Given the description of an element on the screen output the (x, y) to click on. 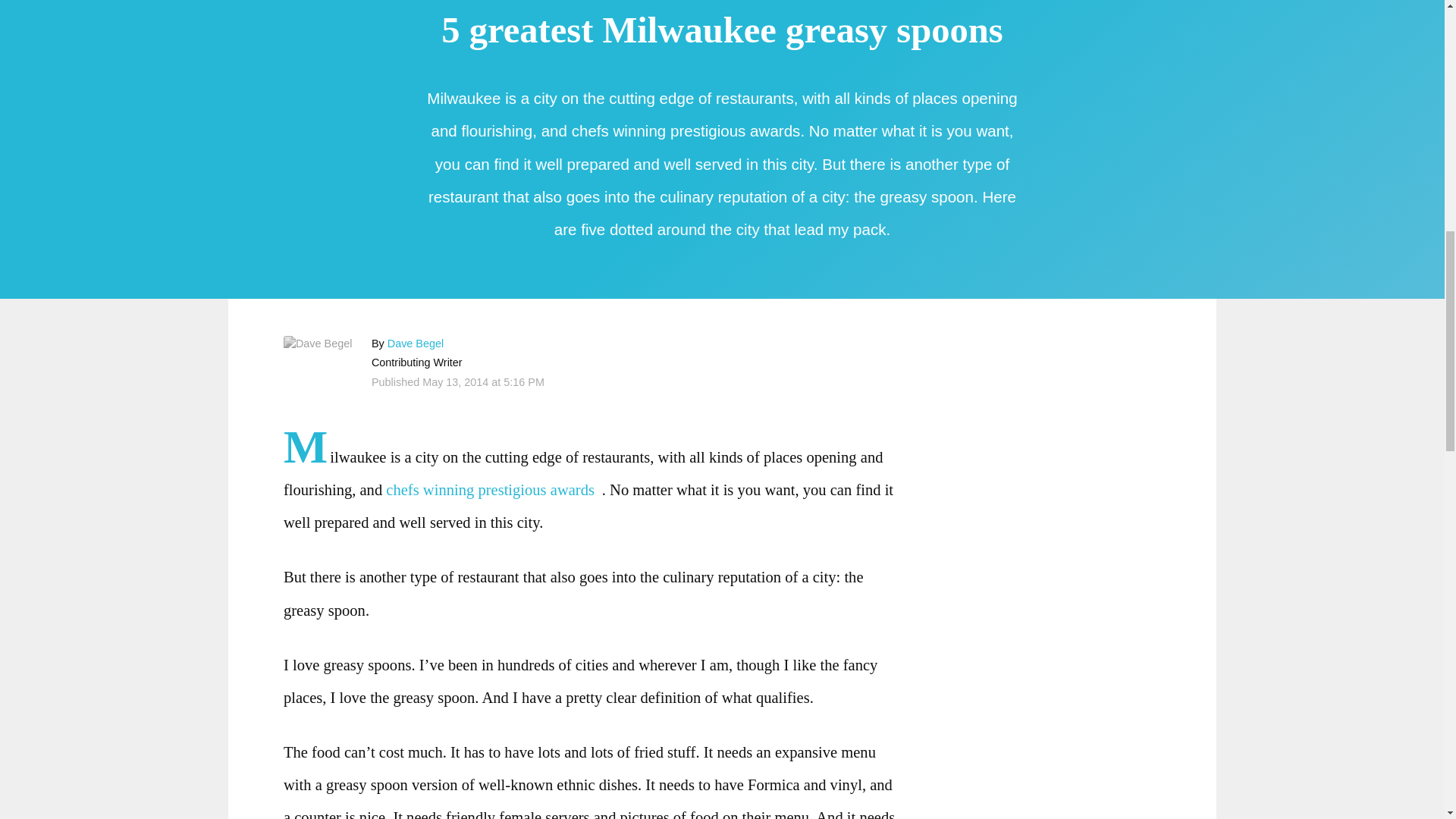
Dave Begel (317, 343)
More articles by Dave Begel (415, 343)
chefs winning prestigious awards (493, 489)
Dave Begel (415, 343)
